Given the description of an element on the screen output the (x, y) to click on. 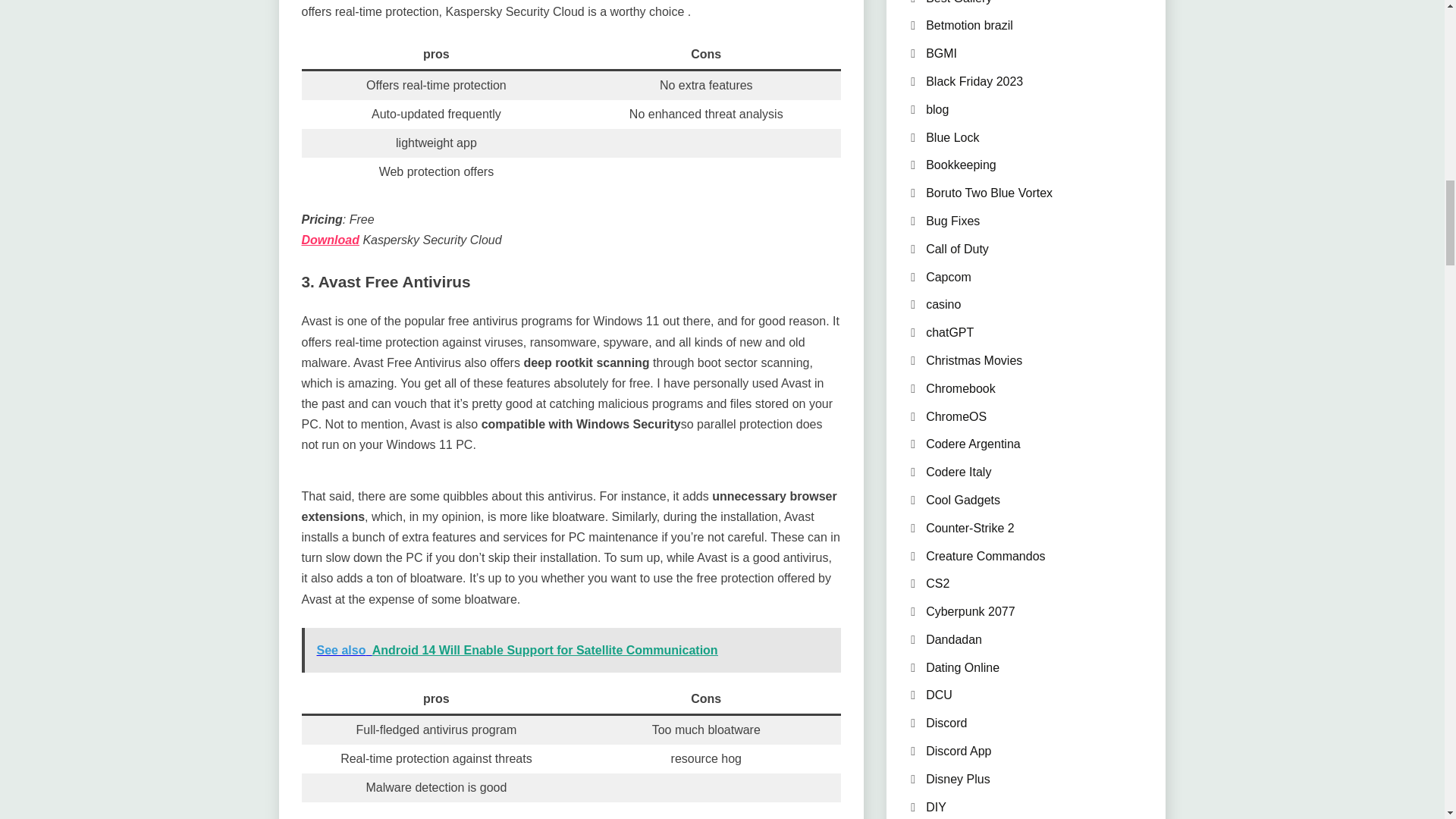
Download (330, 239)
